Given the description of an element on the screen output the (x, y) to click on. 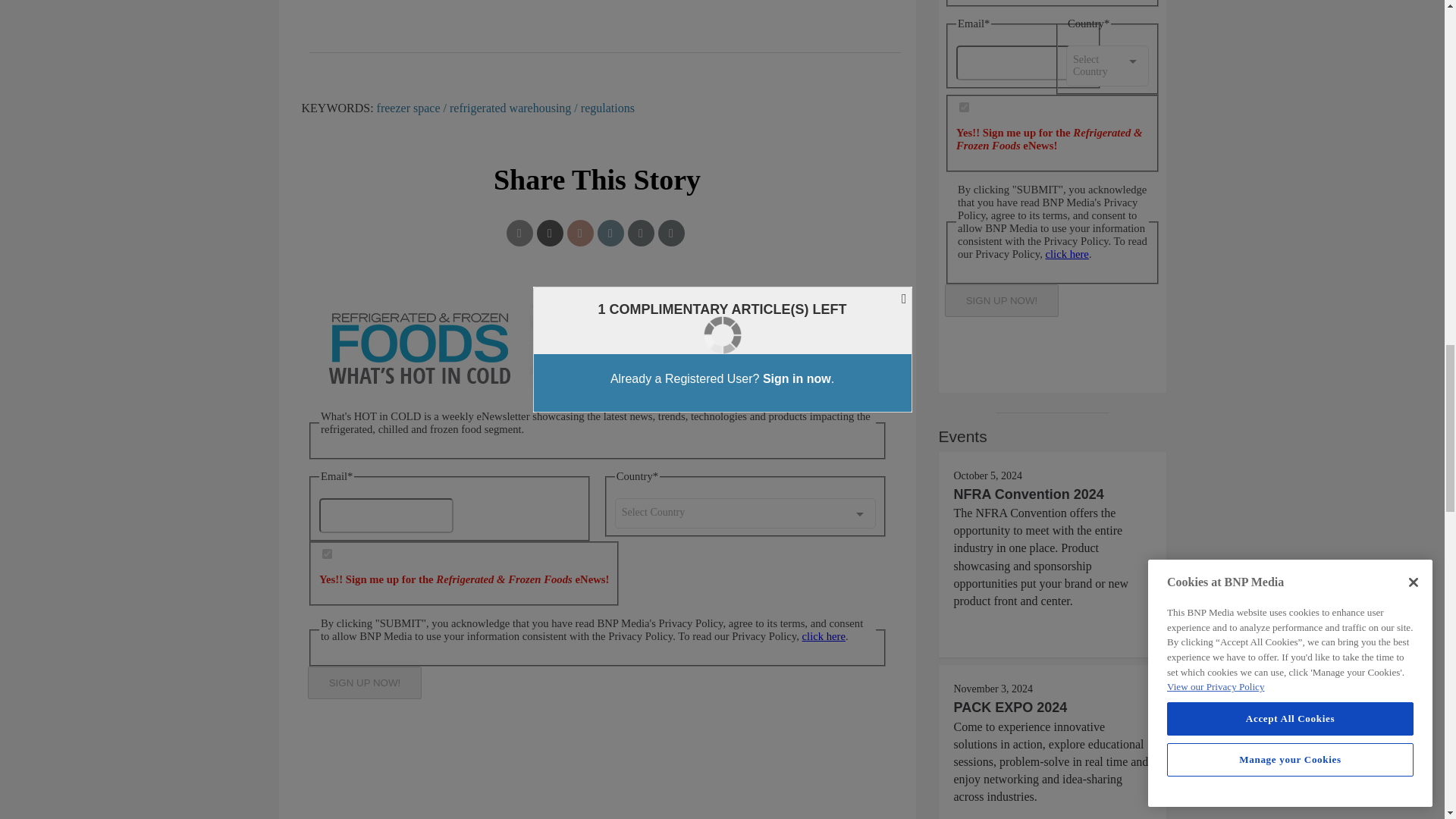
PACK EXPO 2024 (1010, 707)
NFRA Convention 2024 (1028, 494)
